Given the description of an element on the screen output the (x, y) to click on. 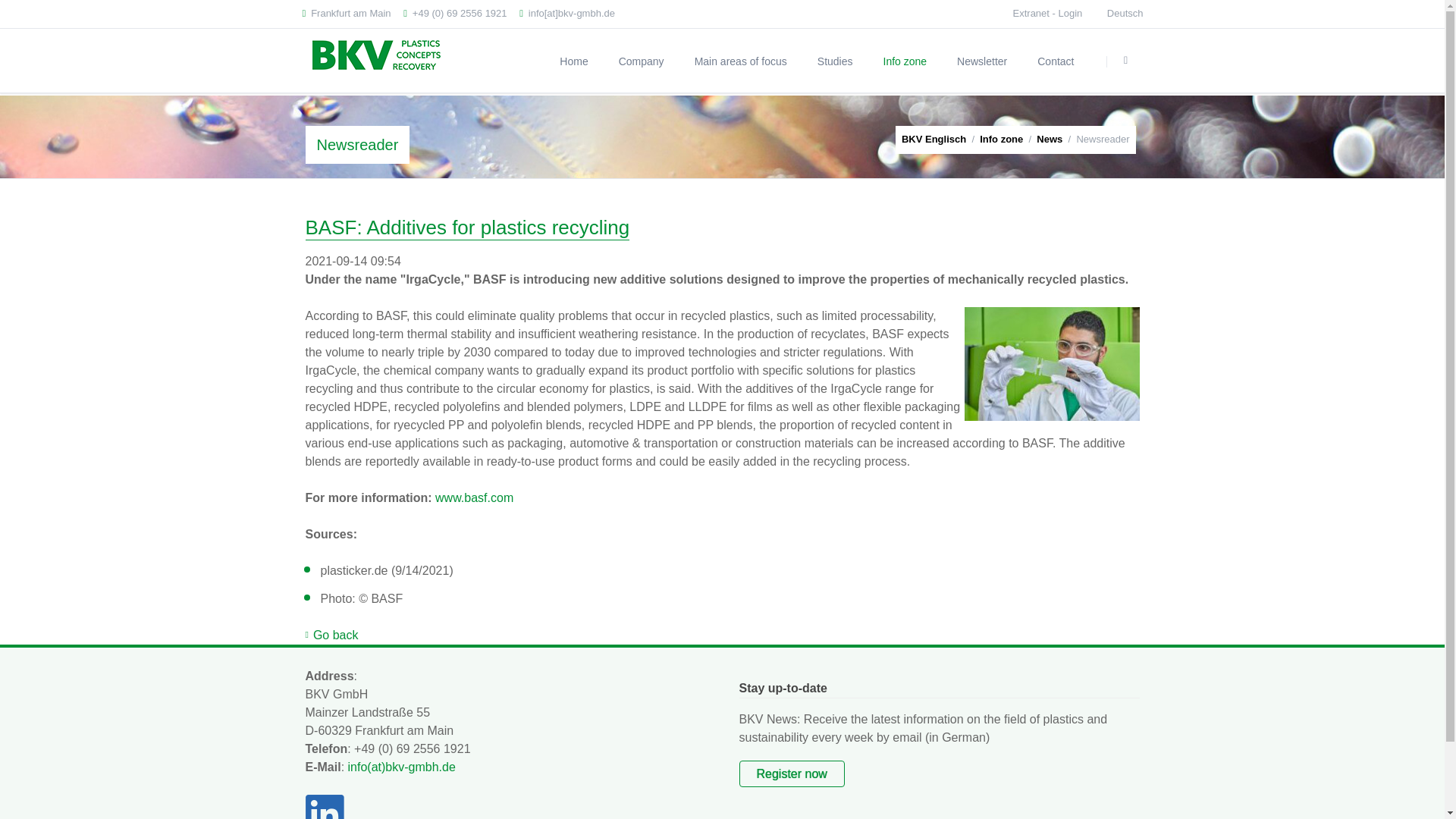
Extranet - Login (1048, 12)
Frankfurt am Main (345, 13)
Deutsch (1124, 13)
